Given the description of an element on the screen output the (x, y) to click on. 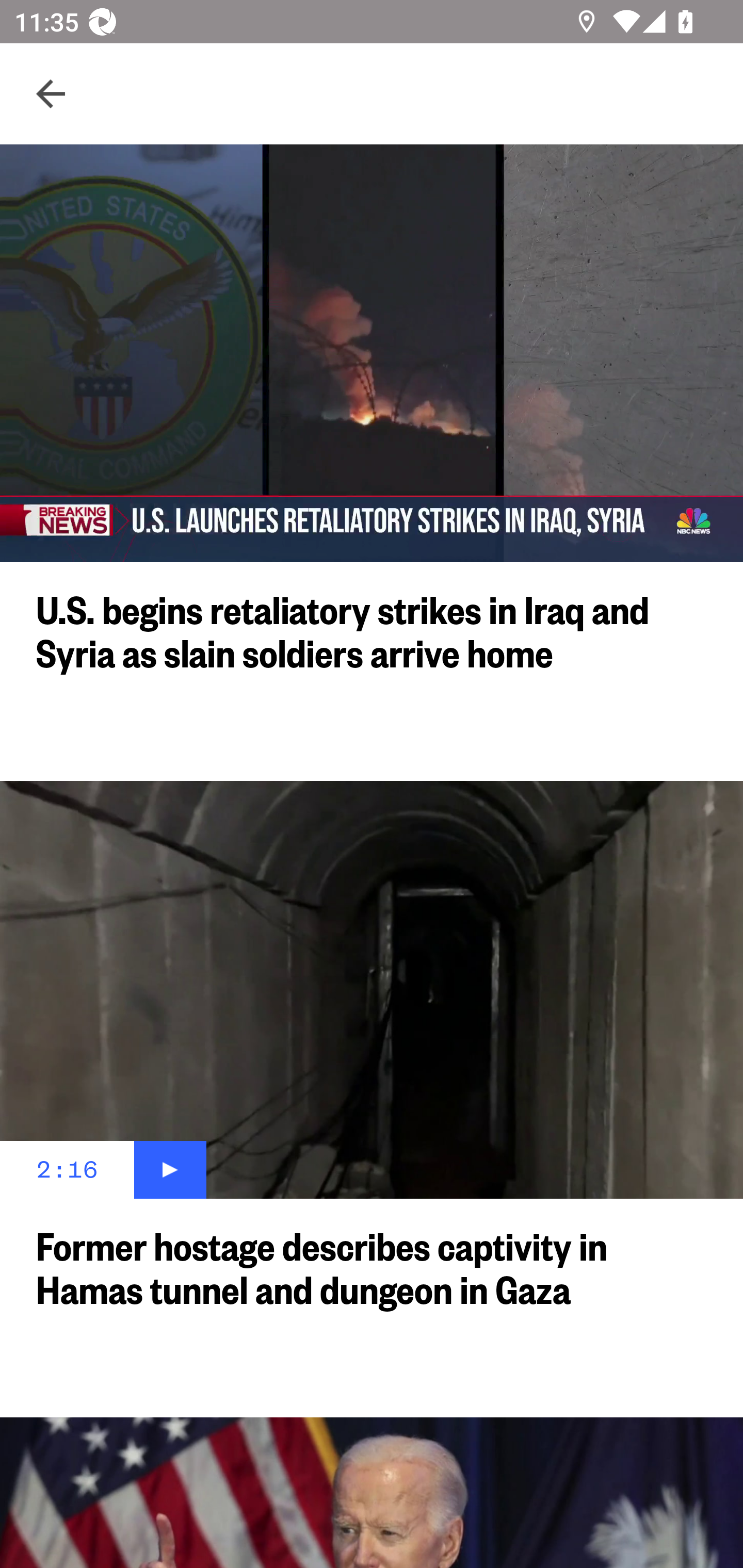
Navigate up (50, 93)
